Given the description of an element on the screen output the (x, y) to click on. 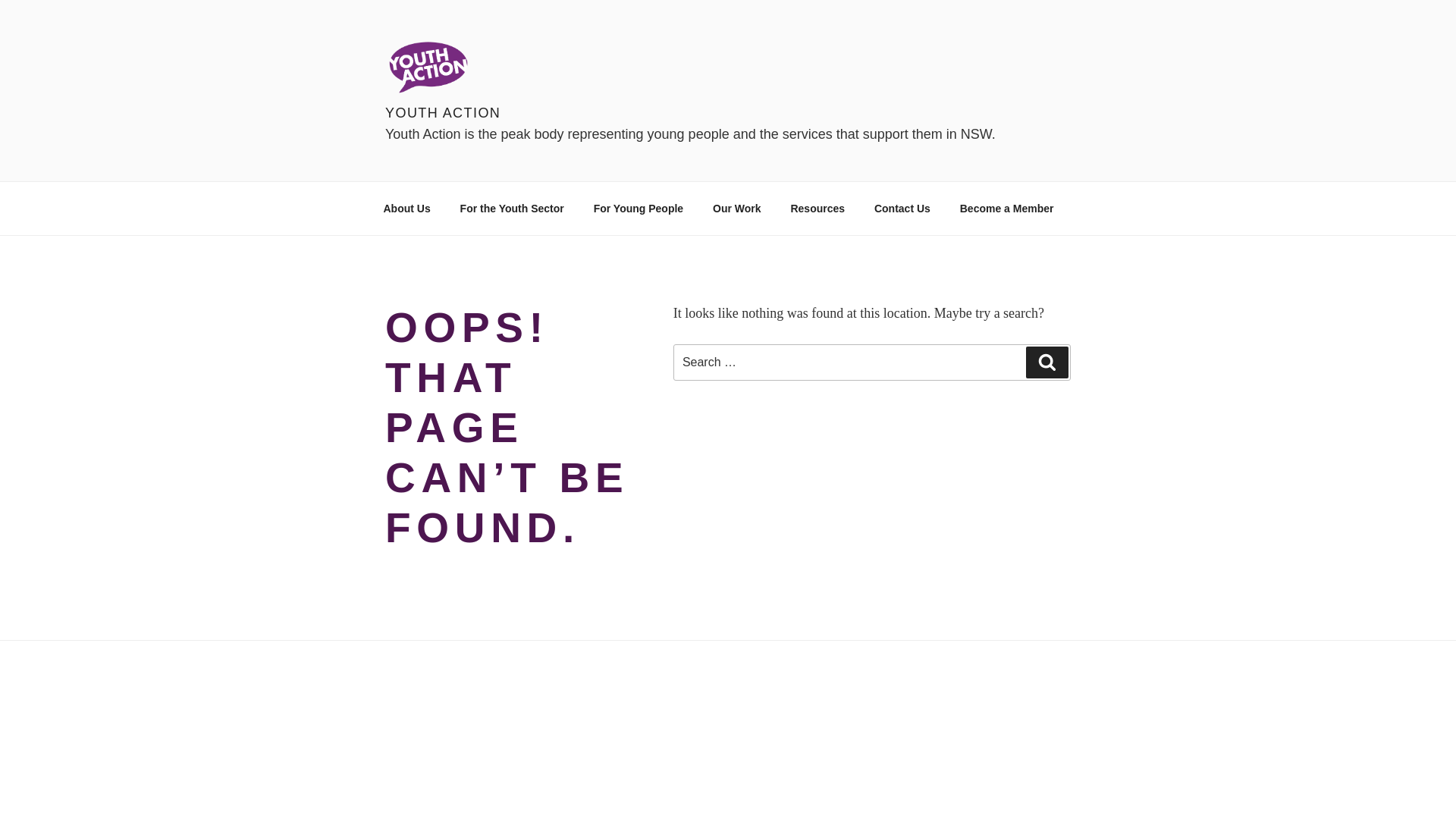
About Us Element type: text (406, 207)
Resources Element type: text (817, 207)
Our Work Element type: text (737, 207)
For the Youth Sector Element type: text (511, 207)
Become a Member Element type: text (1006, 207)
YOUTH ACTION Element type: text (442, 112)
Search Element type: text (1047, 362)
Contact Us Element type: text (901, 207)
For Young People Element type: text (638, 207)
